Given the description of an element on the screen output the (x, y) to click on. 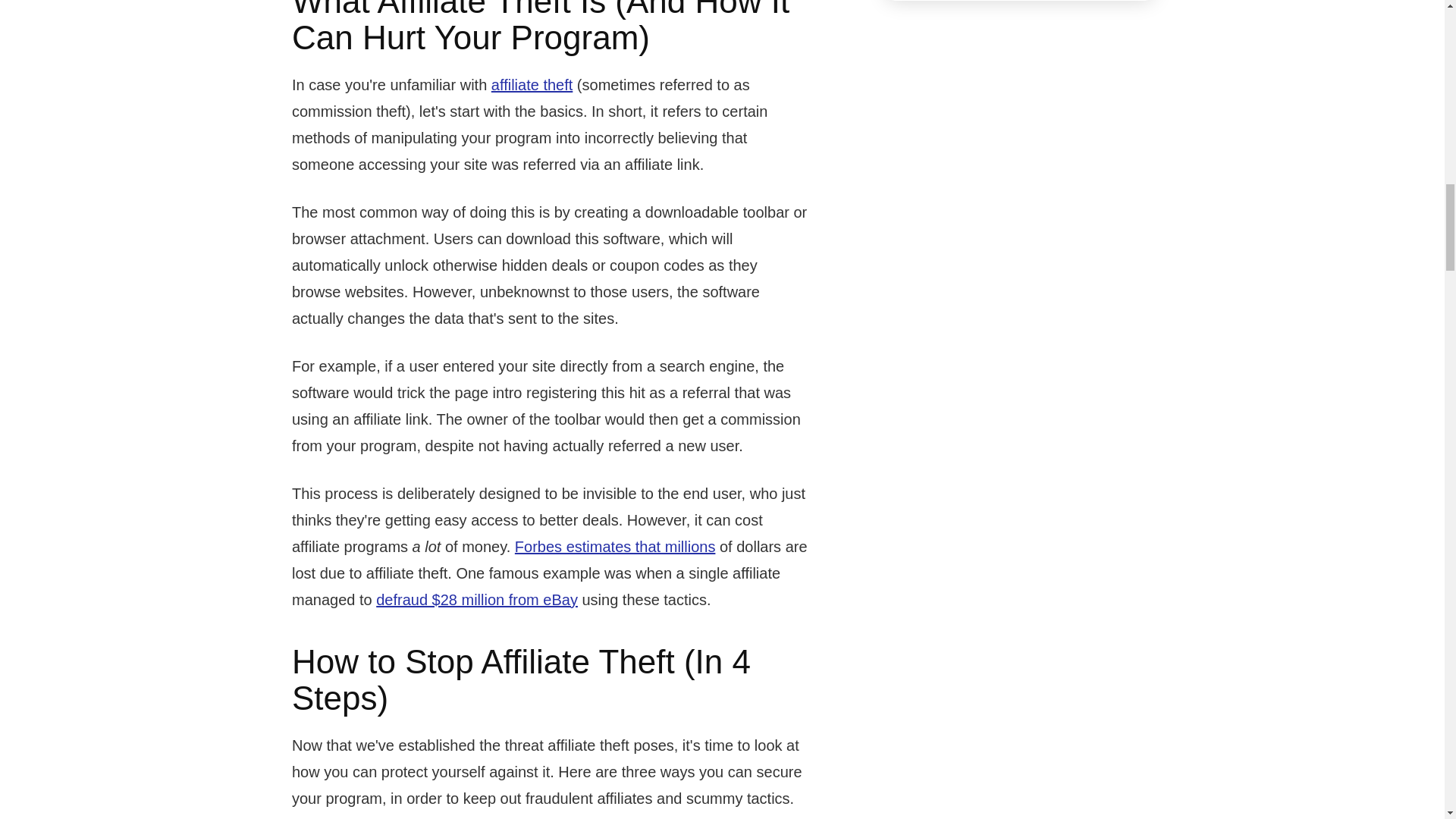
affiliate theft (532, 84)
Forbes estimates that millions (615, 546)
